Given the description of an element on the screen output the (x, y) to click on. 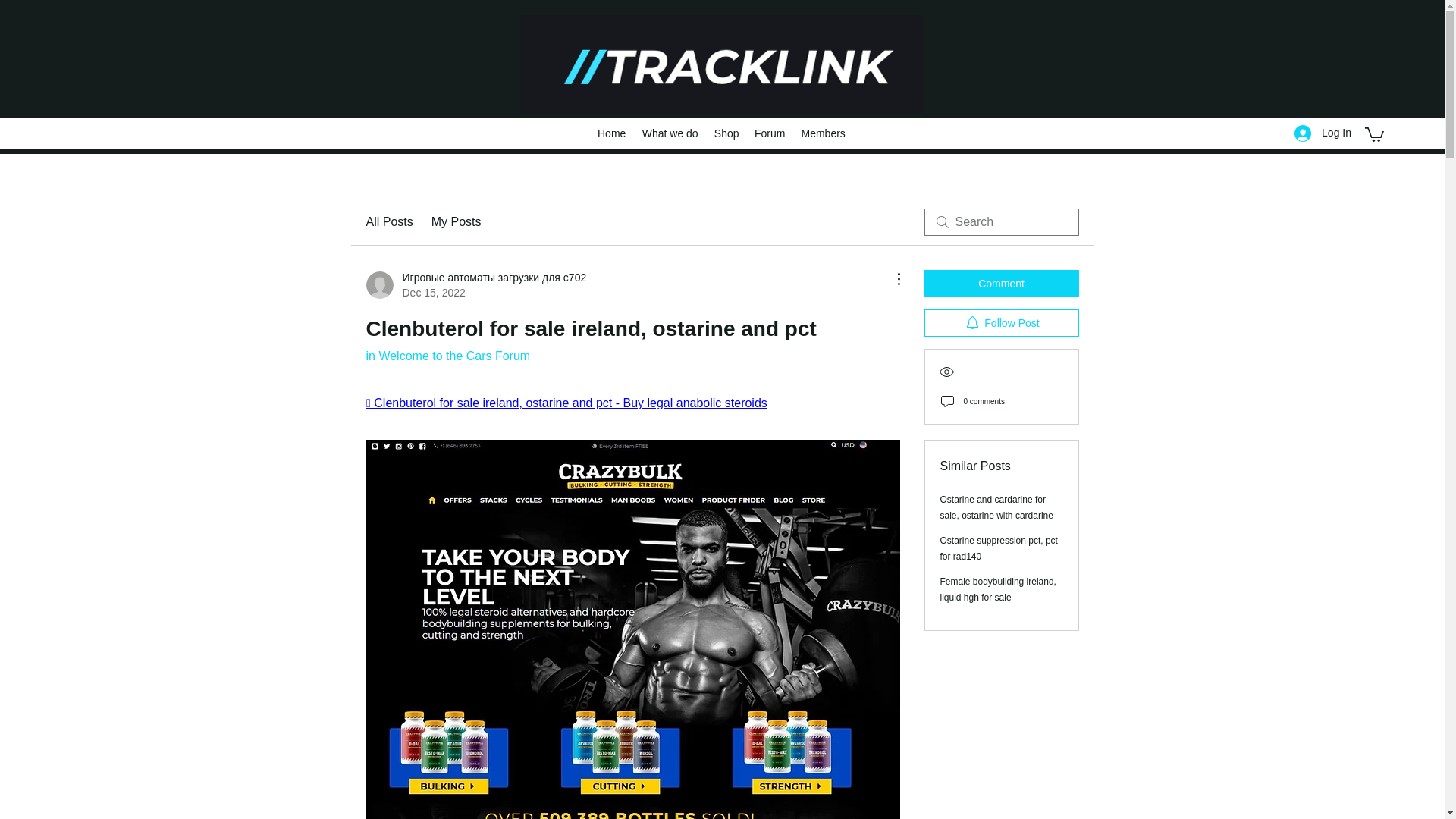
Comment (1000, 283)
Follow Post (1000, 322)
All Posts (388, 221)
Forum (769, 133)
Log In (1322, 132)
Ostarine suppression pct, pct for rad140 (999, 548)
My Posts (455, 221)
What we do (669, 133)
Home (611, 133)
Ostarine and cardarine for sale, ostarine with cardarine (996, 507)
Shop (726, 133)
in Welcome to the Cars Forum (447, 355)
Members (823, 133)
Female bodybuilding ireland, liquid hgh for sale (998, 589)
